Given the description of an element on the screen output the (x, y) to click on. 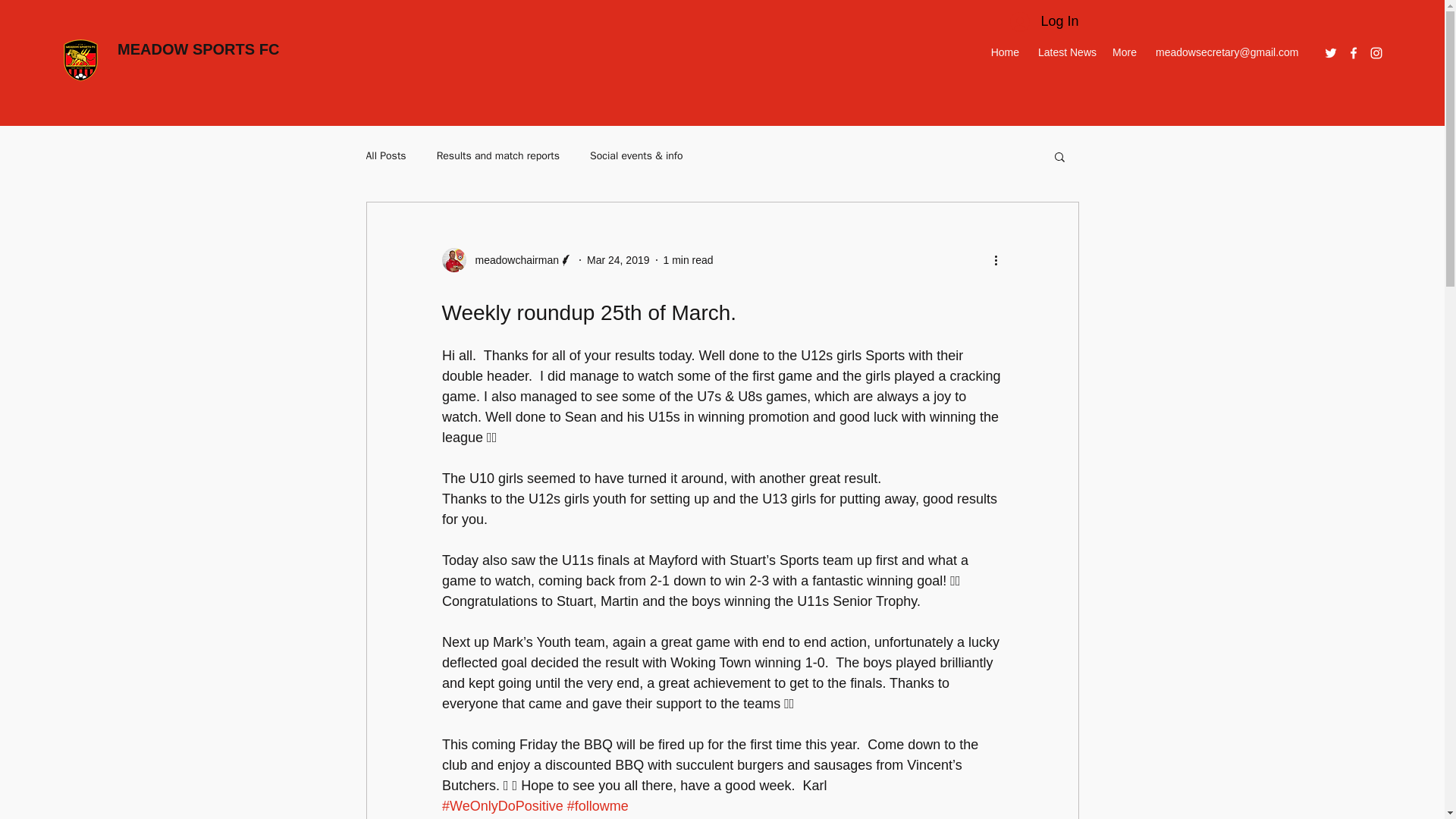
Log In (1043, 21)
All Posts (385, 155)
meadowchairman (512, 260)
Home (1003, 51)
Mar 24, 2019 (617, 259)
Latest News (1064, 51)
Results and match reports (497, 155)
meadowchairman (507, 259)
1 min read (687, 259)
